Given the description of an element on the screen output the (x, y) to click on. 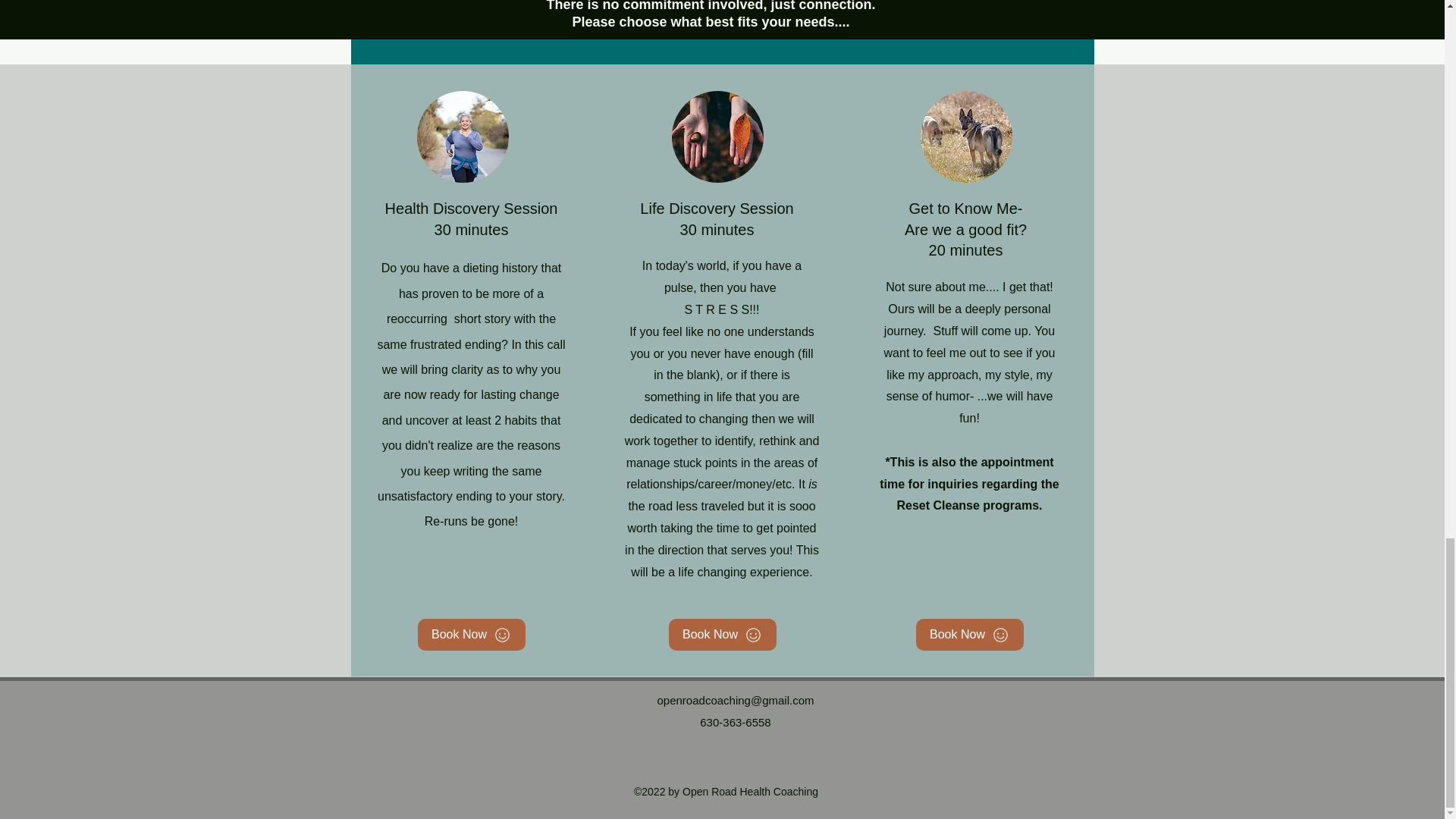
Book Now (969, 634)
Book Now (722, 634)
Book Now (470, 634)
